Given the description of an element on the screen output the (x, y) to click on. 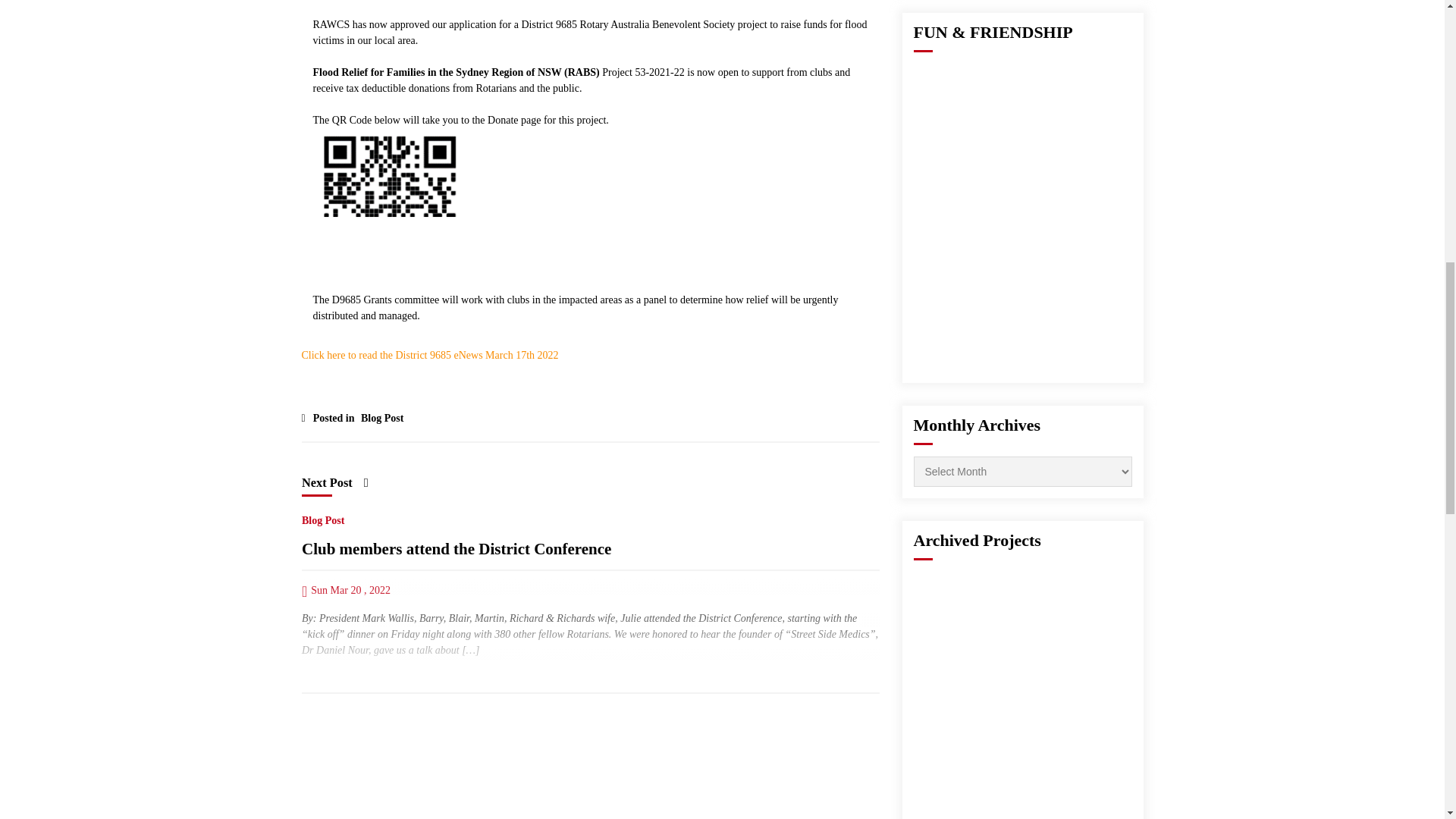
Click here to read the District 9685 eNews March 17th 2022 (430, 355)
Project 53-2021-22  (644, 71)
Blog Post (322, 517)
Club members attend the District Conference (456, 549)
Blog Post (379, 414)
Archived Projects (976, 539)
Next Post (334, 482)
